Given the description of an element on the screen output the (x, y) to click on. 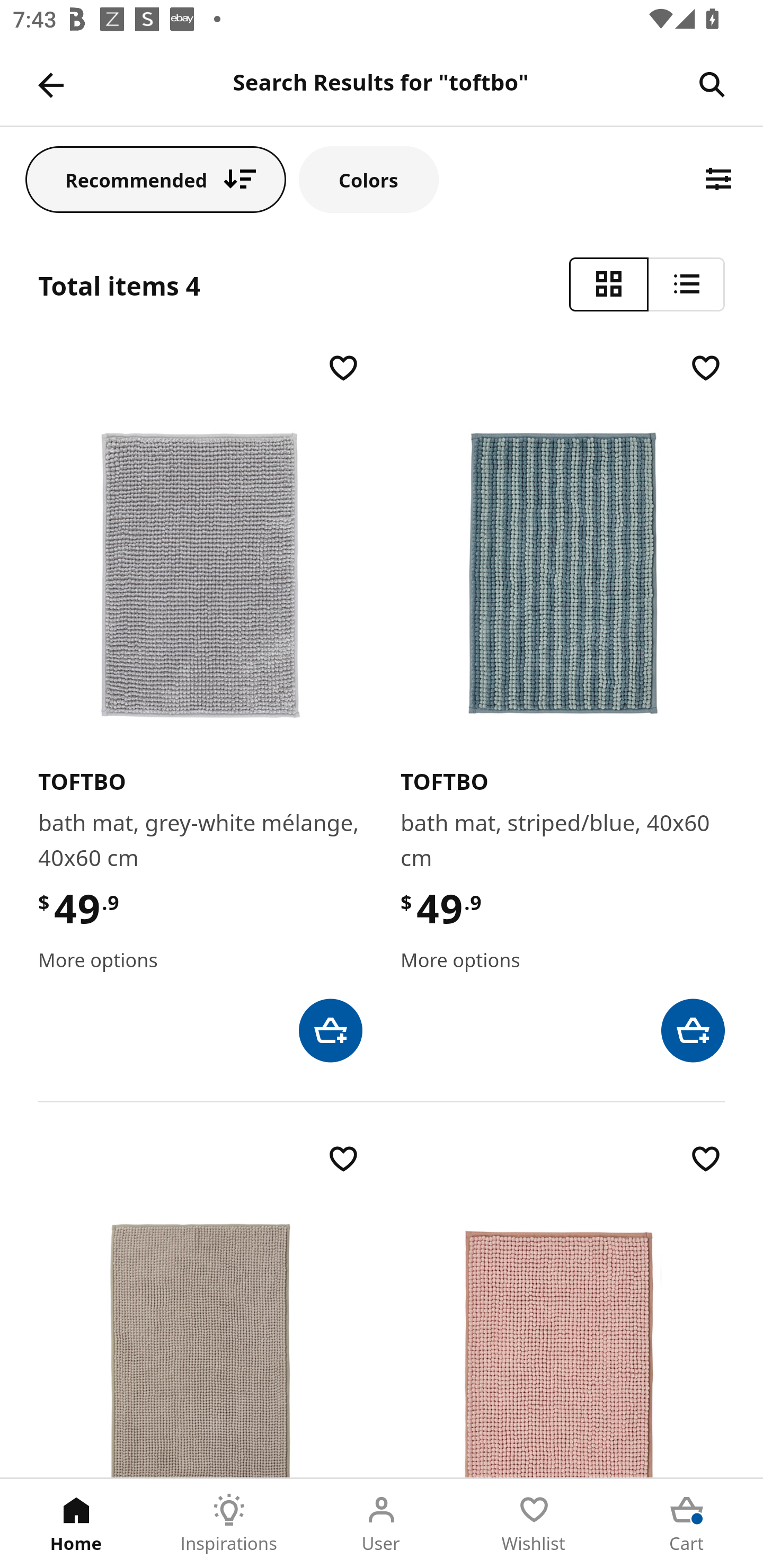
Recommended (155, 179)
Colors (368, 179)
Home
Tab 1 of 5 (76, 1522)
Inspirations
Tab 2 of 5 (228, 1522)
User
Tab 3 of 5 (381, 1522)
Wishlist
Tab 4 of 5 (533, 1522)
Cart
Tab 5 of 5 (686, 1522)
